Given the description of an element on the screen output the (x, y) to click on. 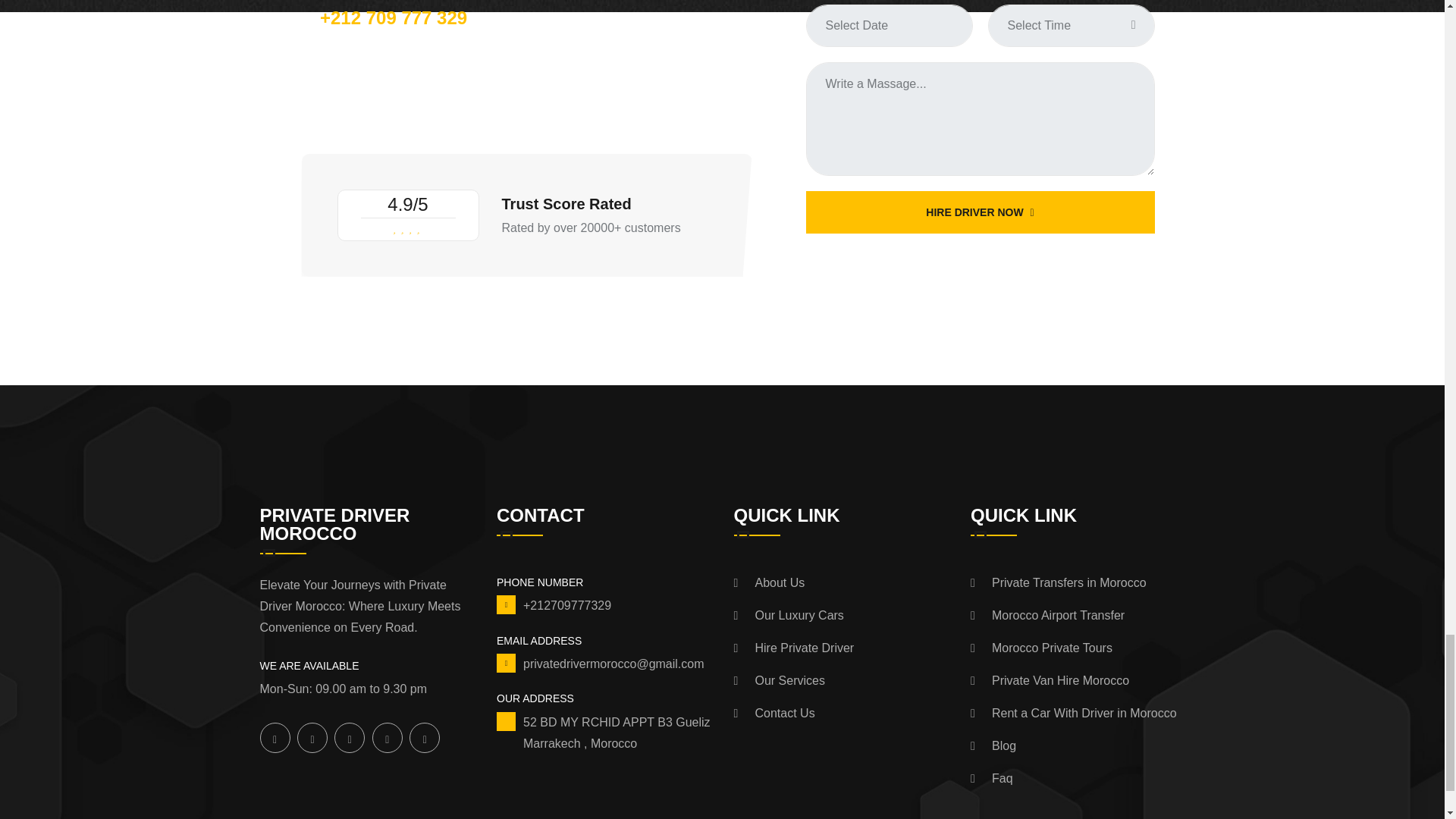
HIRE DRIVER NOW (979, 211)
